Given the description of an element on the screen output the (x, y) to click on. 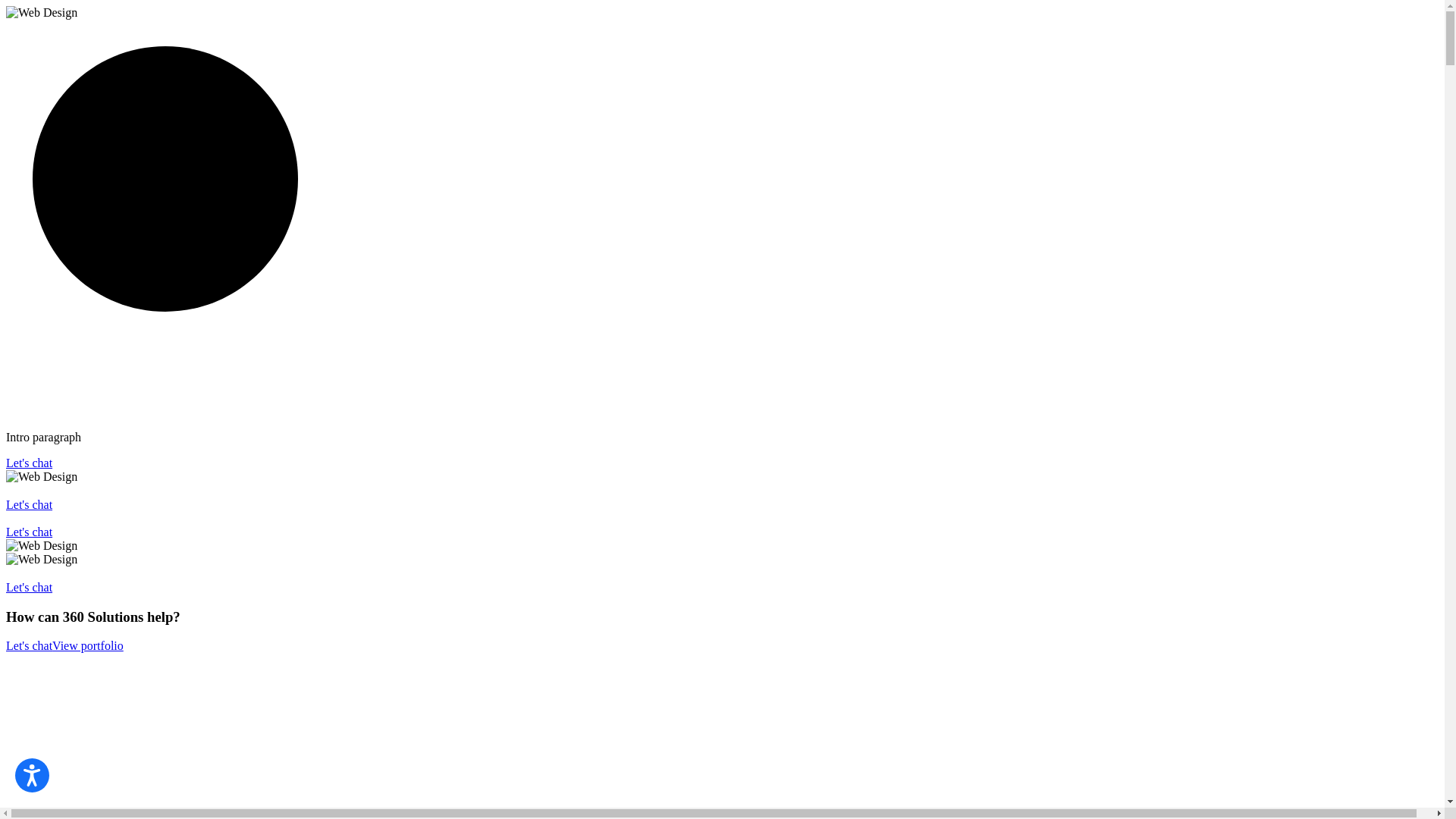
Let's chat Element type: text (29, 503)
Let's chat Element type: text (29, 462)
Let's chat Element type: text (29, 586)
View portfolio Element type: text (87, 645)
Let's chat Element type: text (29, 645)
Let's chat Element type: text (29, 531)
